Given the description of an element on the screen output the (x, y) to click on. 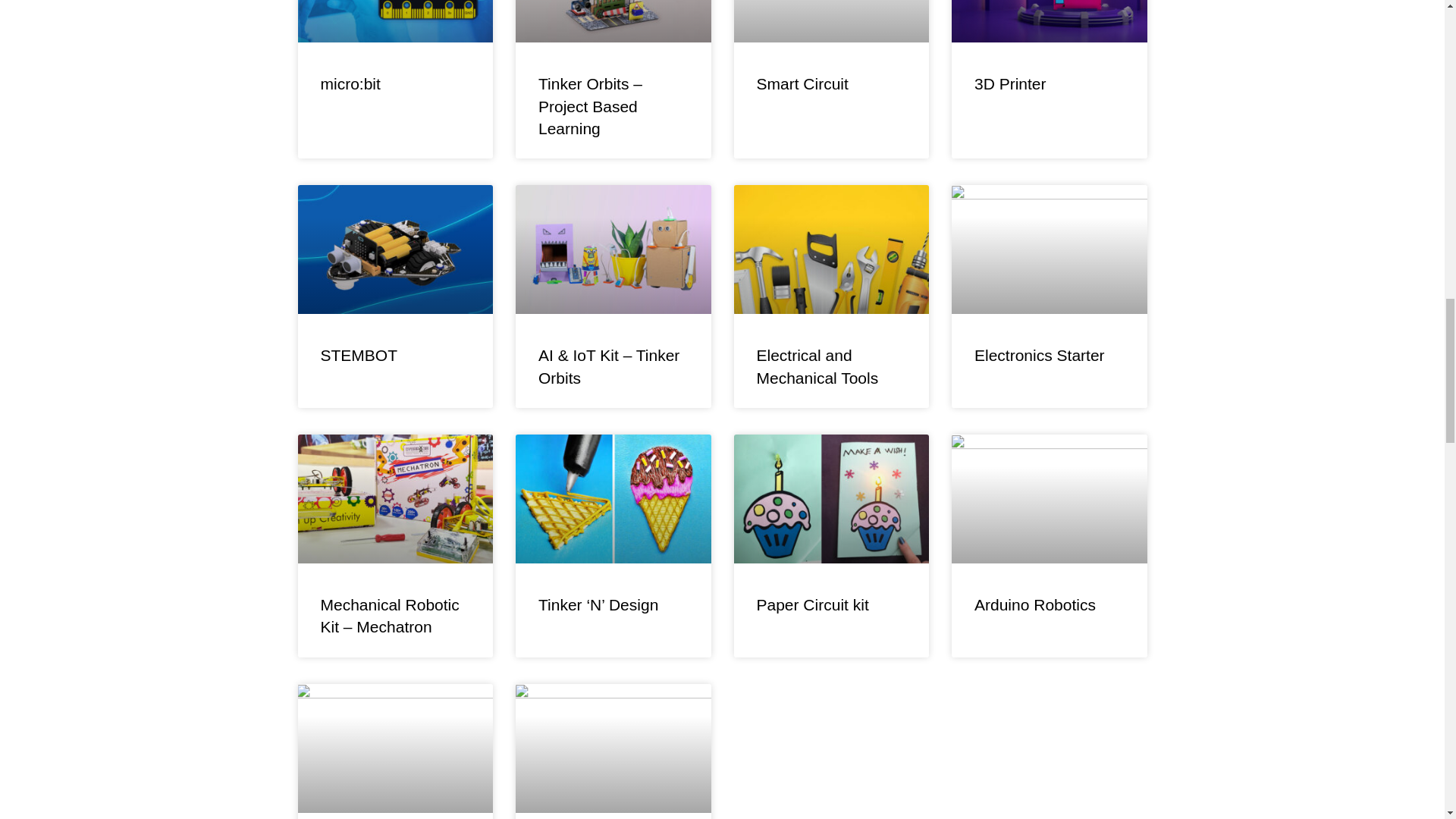
micro:bit (350, 83)
STEMBOT (358, 354)
Smart Circuit (802, 83)
3D Printer (1010, 83)
